Given the description of an element on the screen output the (x, y) to click on. 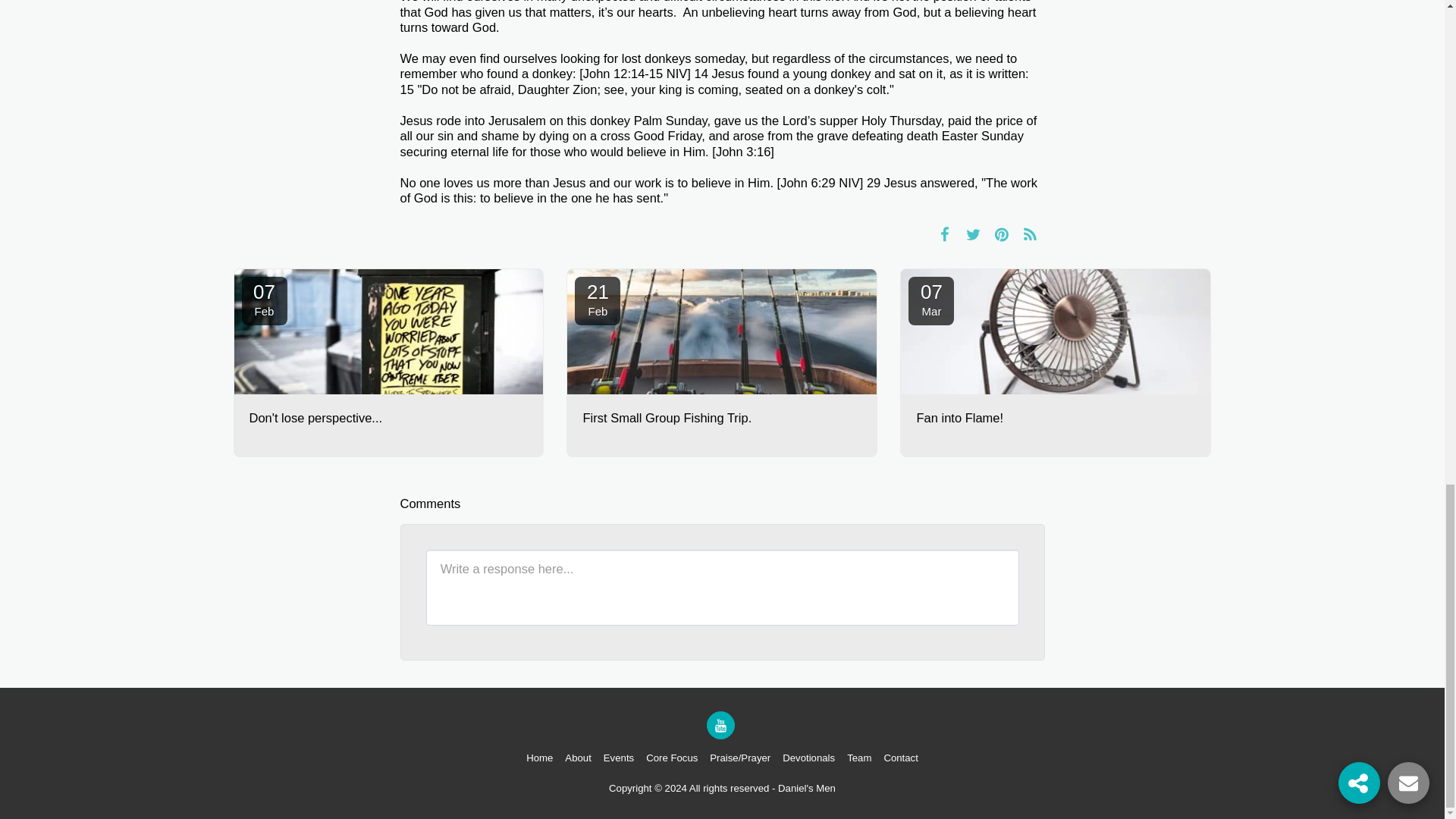
Don't lose perspective... (597, 300)
First Small Group Fishing Trip. (387, 418)
Tweet (721, 418)
RSS (263, 300)
Pin it (973, 233)
Fan into Flame! (930, 300)
Share on Facebook (1029, 233)
